Given the description of an element on the screen output the (x, y) to click on. 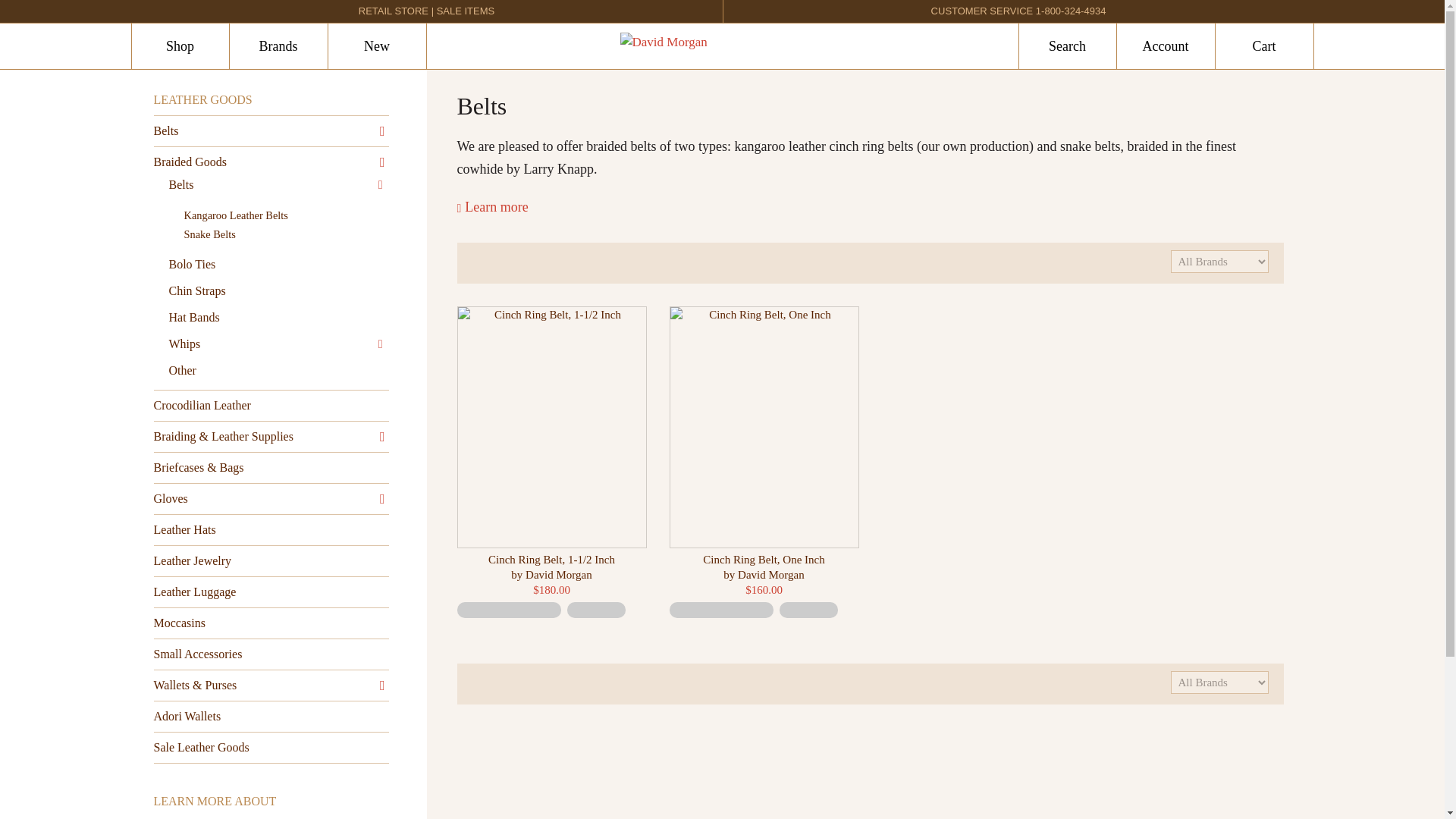
Shop (179, 45)
RETAIL STORE (393, 10)
1-800-324-4934 (1070, 10)
CUSTOMER SERVICE (982, 10)
SALE ITEMS (465, 10)
Brands (277, 45)
